Given the description of an element on the screen output the (x, y) to click on. 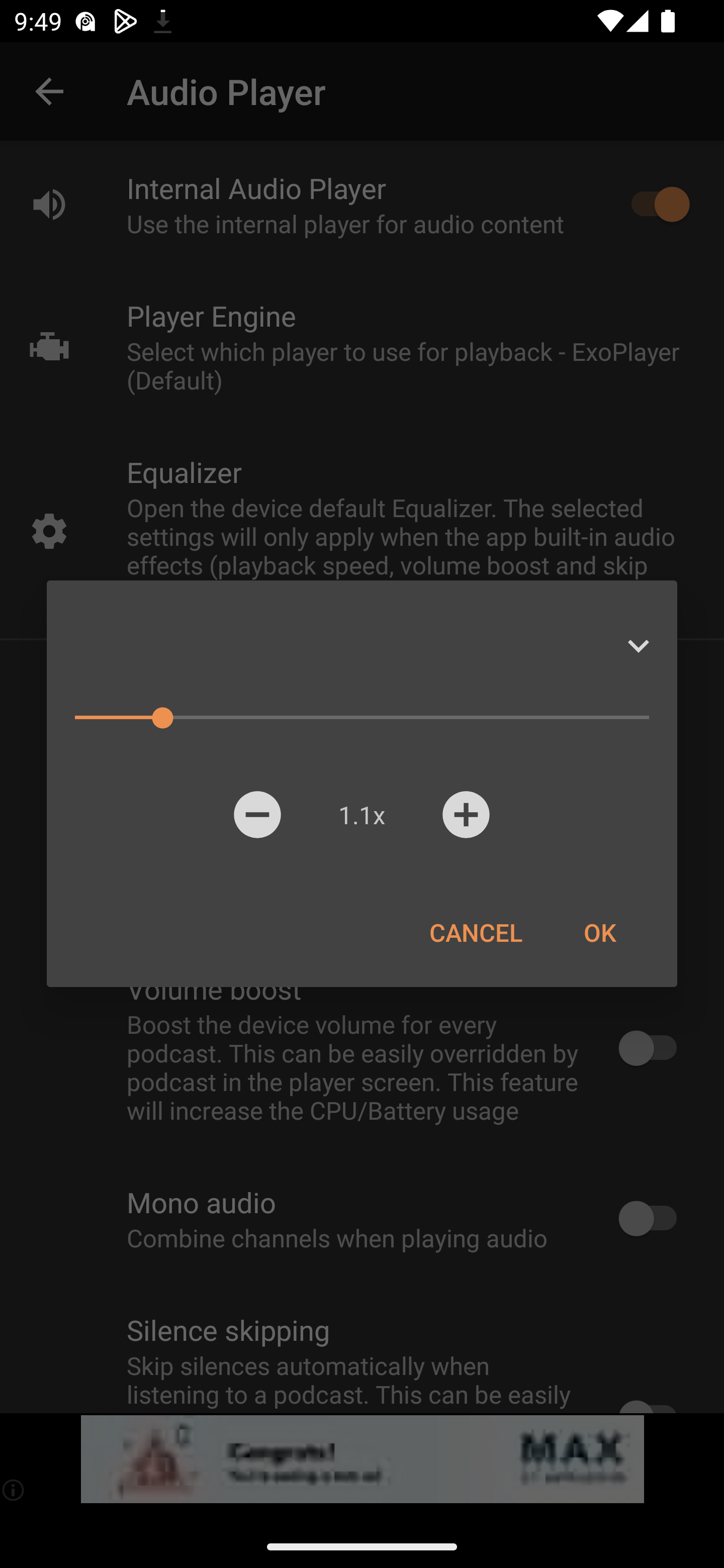
Expand (637, 645)
1.1x (361, 814)
CANCEL (475, 932)
OK (599, 932)
